Given the description of an element on the screen output the (x, y) to click on. 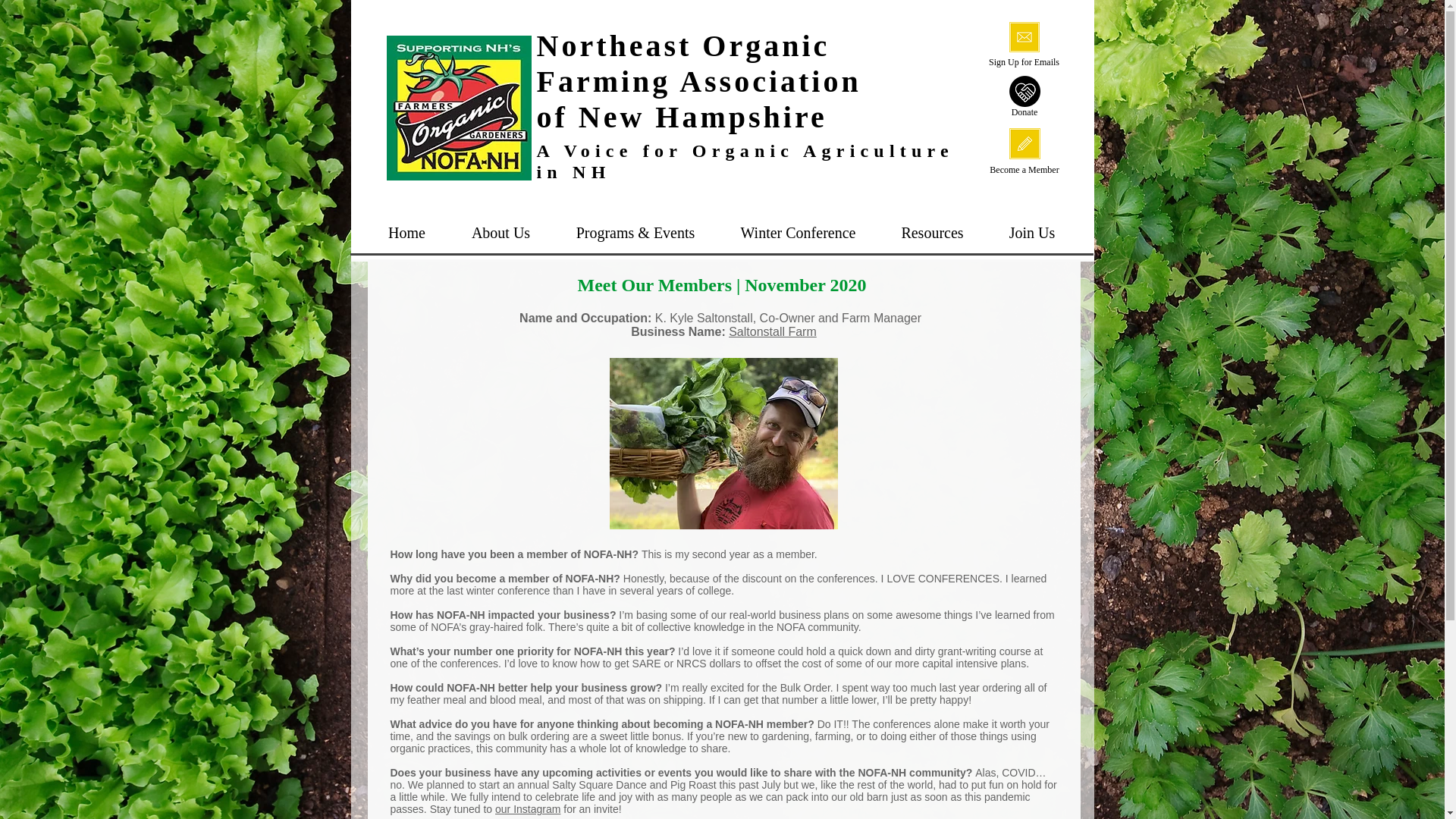
Winter Conference (797, 232)
Resources (931, 232)
About Us (500, 232)
Home (406, 232)
